Given the description of an element on the screen output the (x, y) to click on. 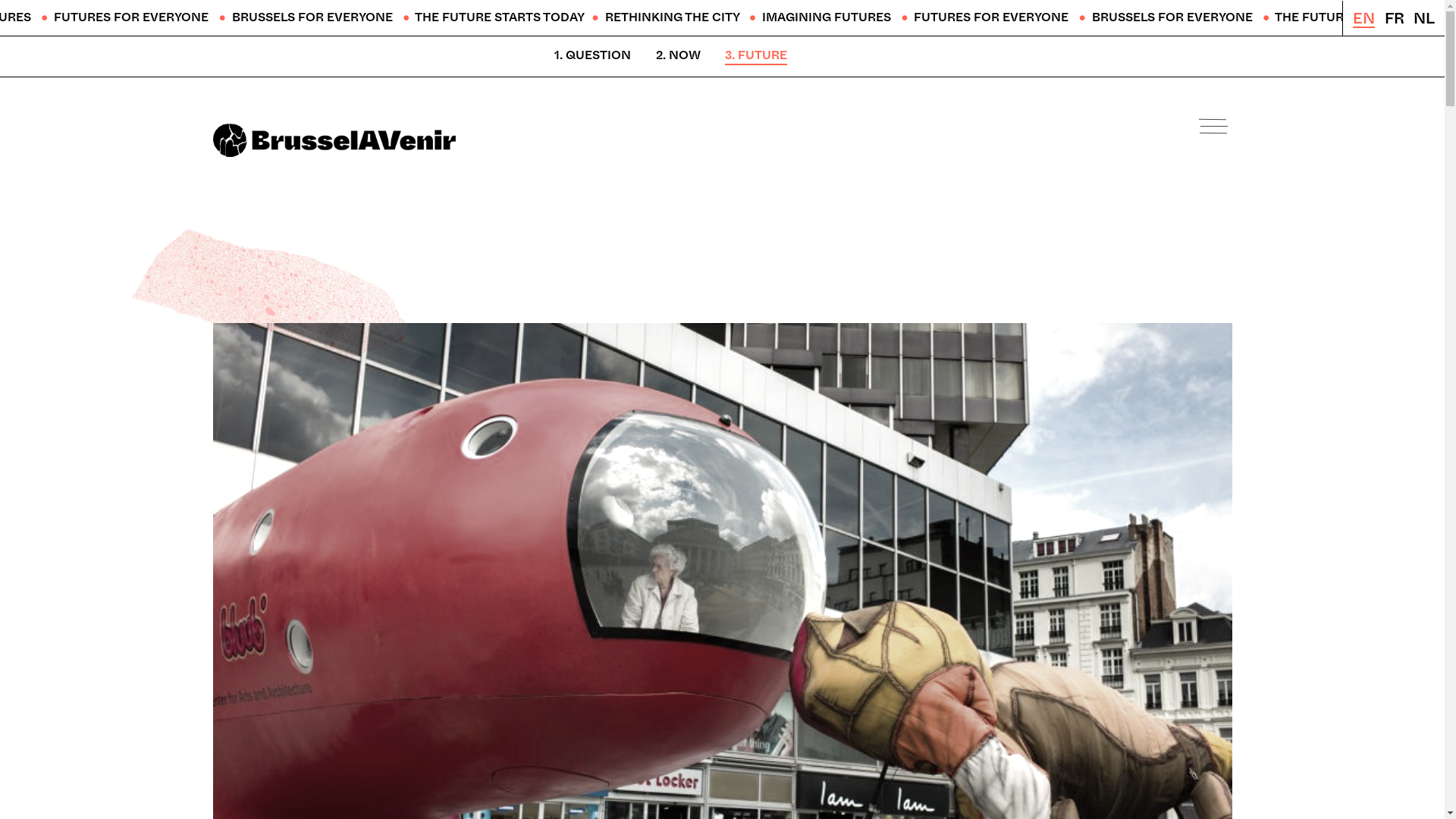
1. QUESTION Element type: text (592, 56)
FR Element type: text (1394, 18)
2. NOW Element type: text (677, 56)
EN Element type: text (1363, 19)
3. FUTURE Element type: text (755, 56)
NL Element type: text (1423, 18)
